Given the description of an element on the screen output the (x, y) to click on. 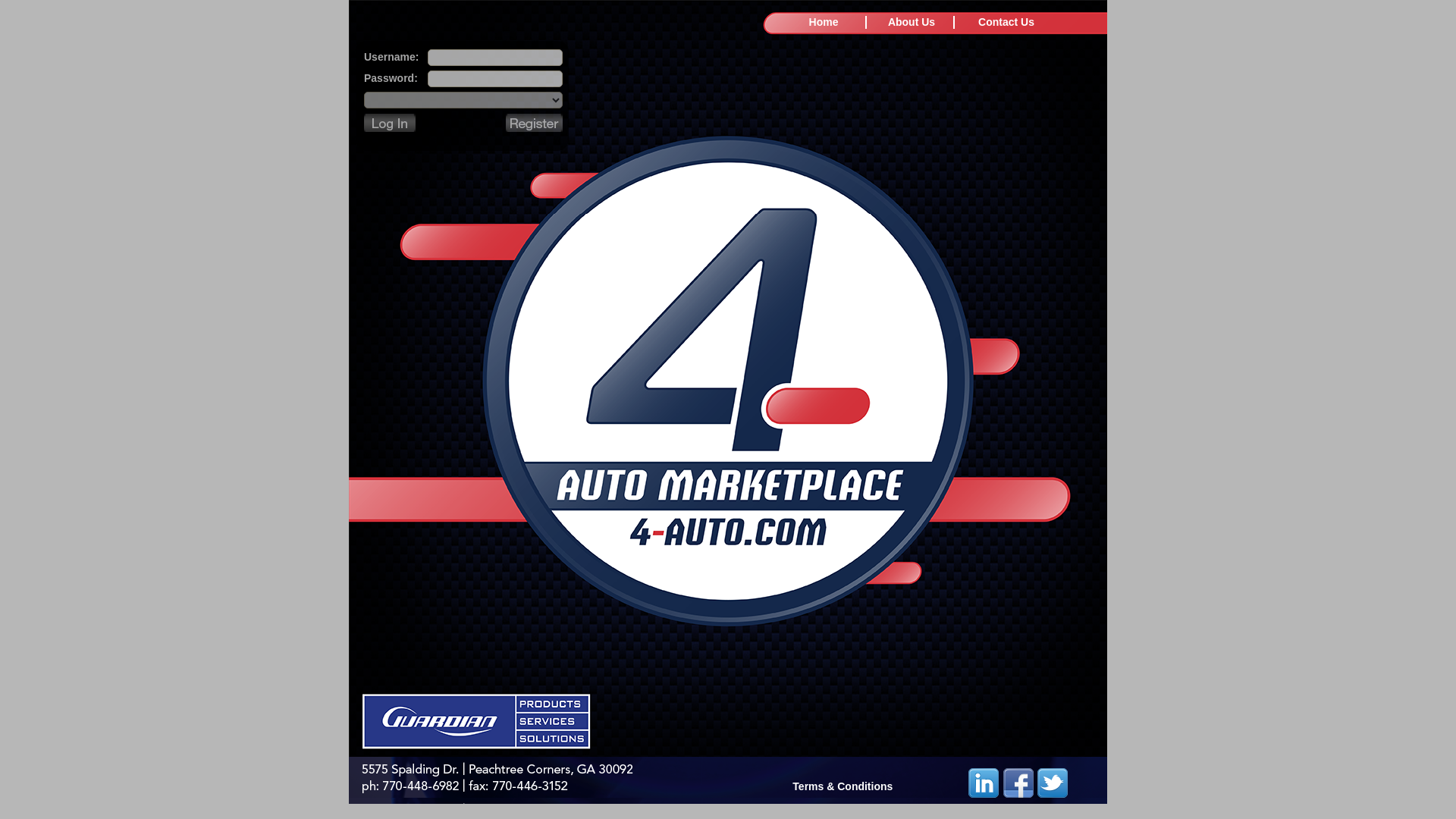
Home Element type: text (823, 21)
Contact Us Element type: text (1006, 21)
About Us Element type: text (911, 21)
Terms & Conditions Element type: text (880, 780)
